Given the description of an element on the screen output the (x, y) to click on. 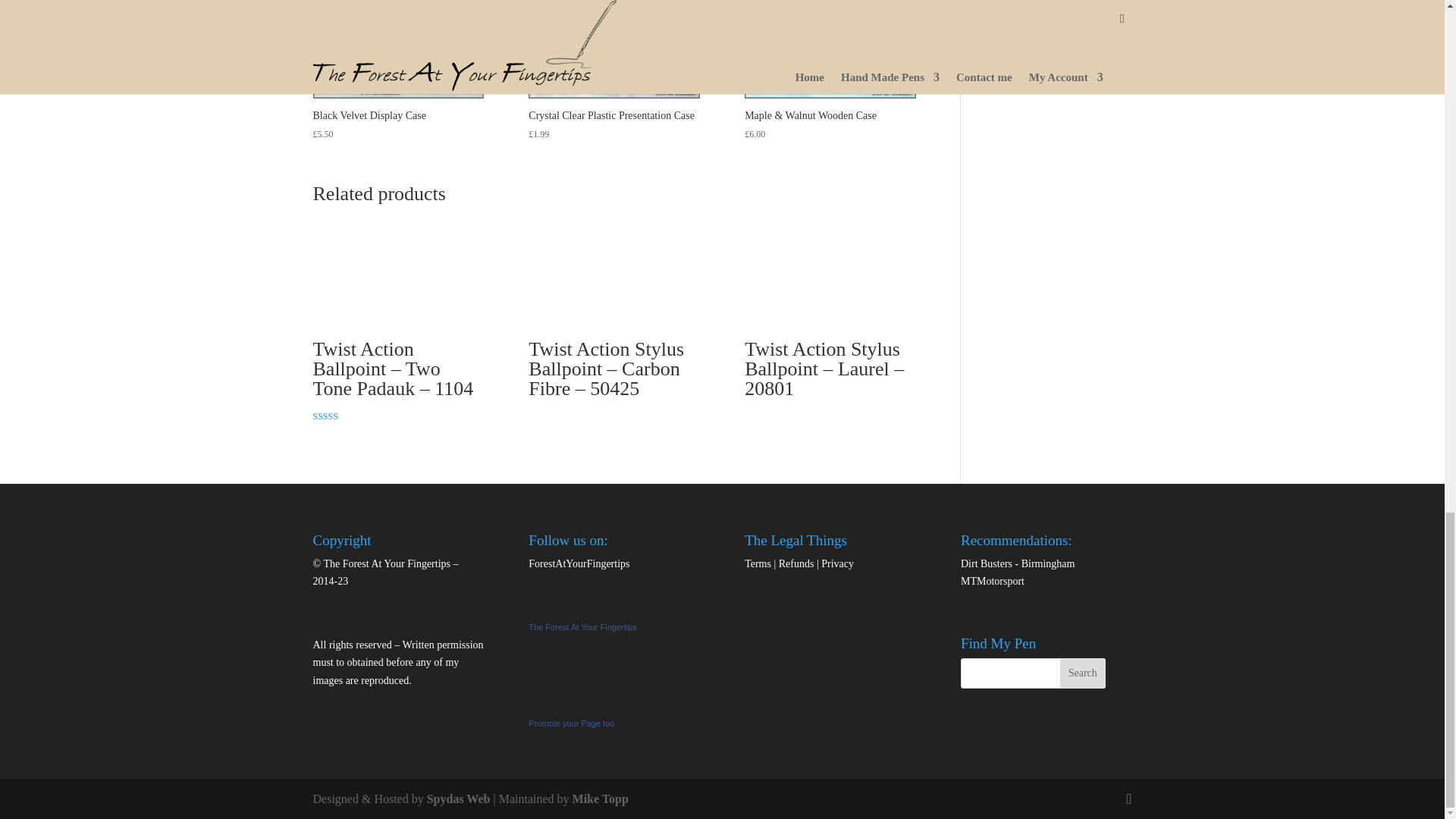
Make your own badge! (571, 723)
The Forest At Your Fingertips (582, 626)
The Forest At Your Fingertips (582, 705)
Search (1082, 673)
